Given the description of an element on the screen output the (x, y) to click on. 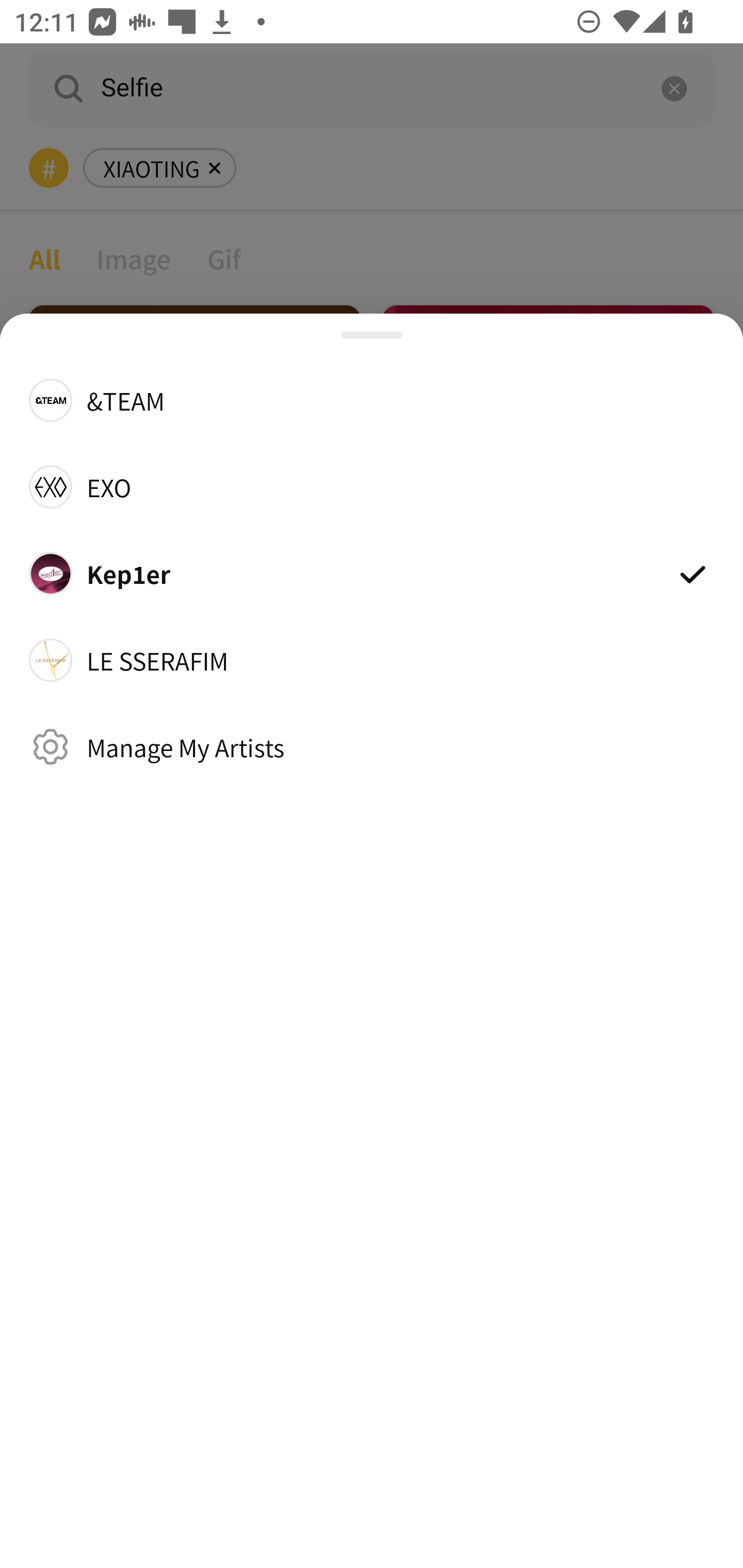
&TEAM (371, 399)
EXO (371, 486)
Kep1er (371, 573)
LE SSERAFIM (371, 660)
Manage My Artists (371, 746)
